Given the description of an element on the screen output the (x, y) to click on. 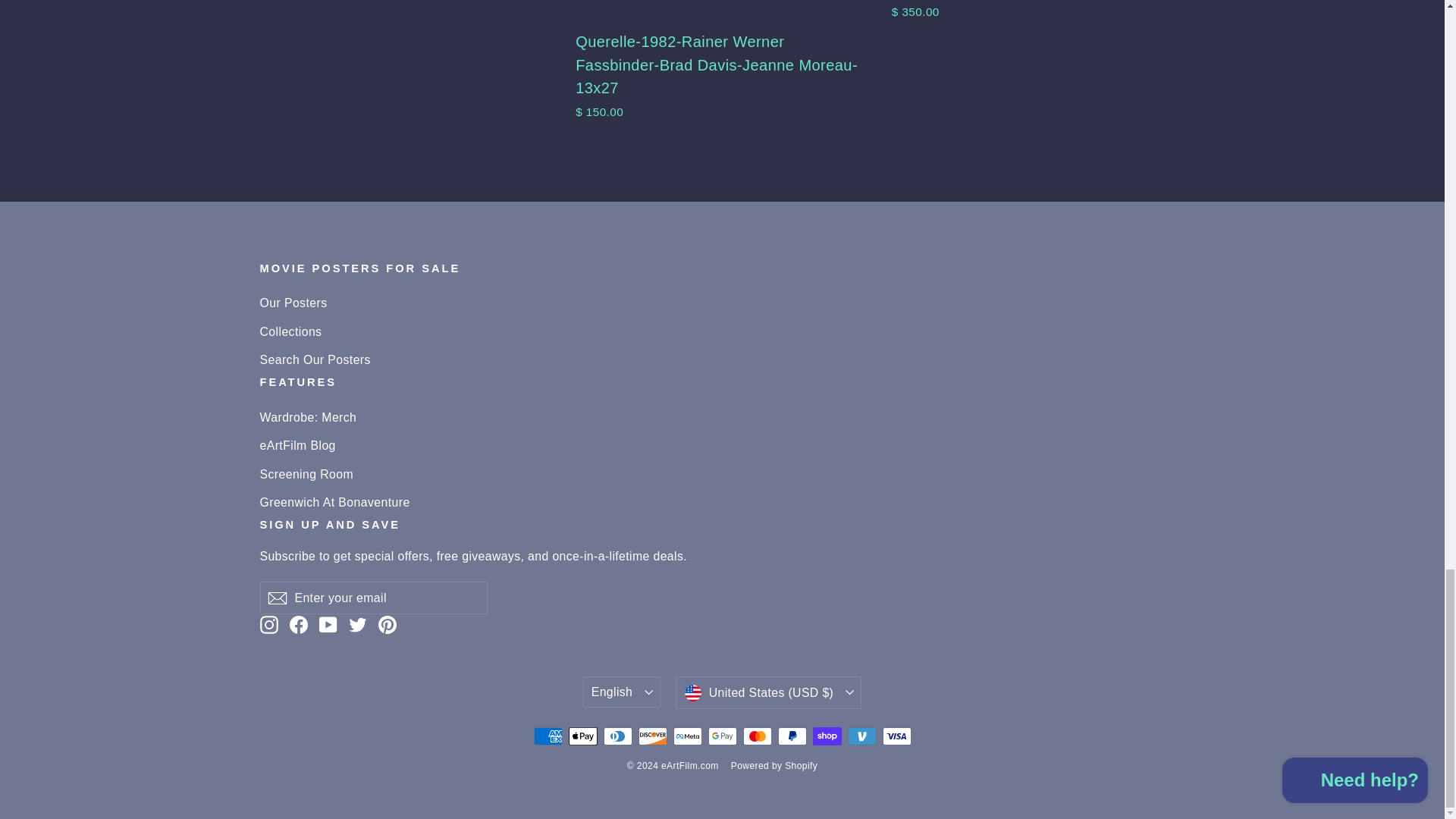
eArtFilm.com on Twitter (357, 624)
instagram (268, 624)
icon-email (276, 597)
eArtFilm.com on YouTube (327, 624)
twitter (357, 624)
eArtFilm.com on Facebook (298, 624)
